Given the description of an element on the screen output the (x, y) to click on. 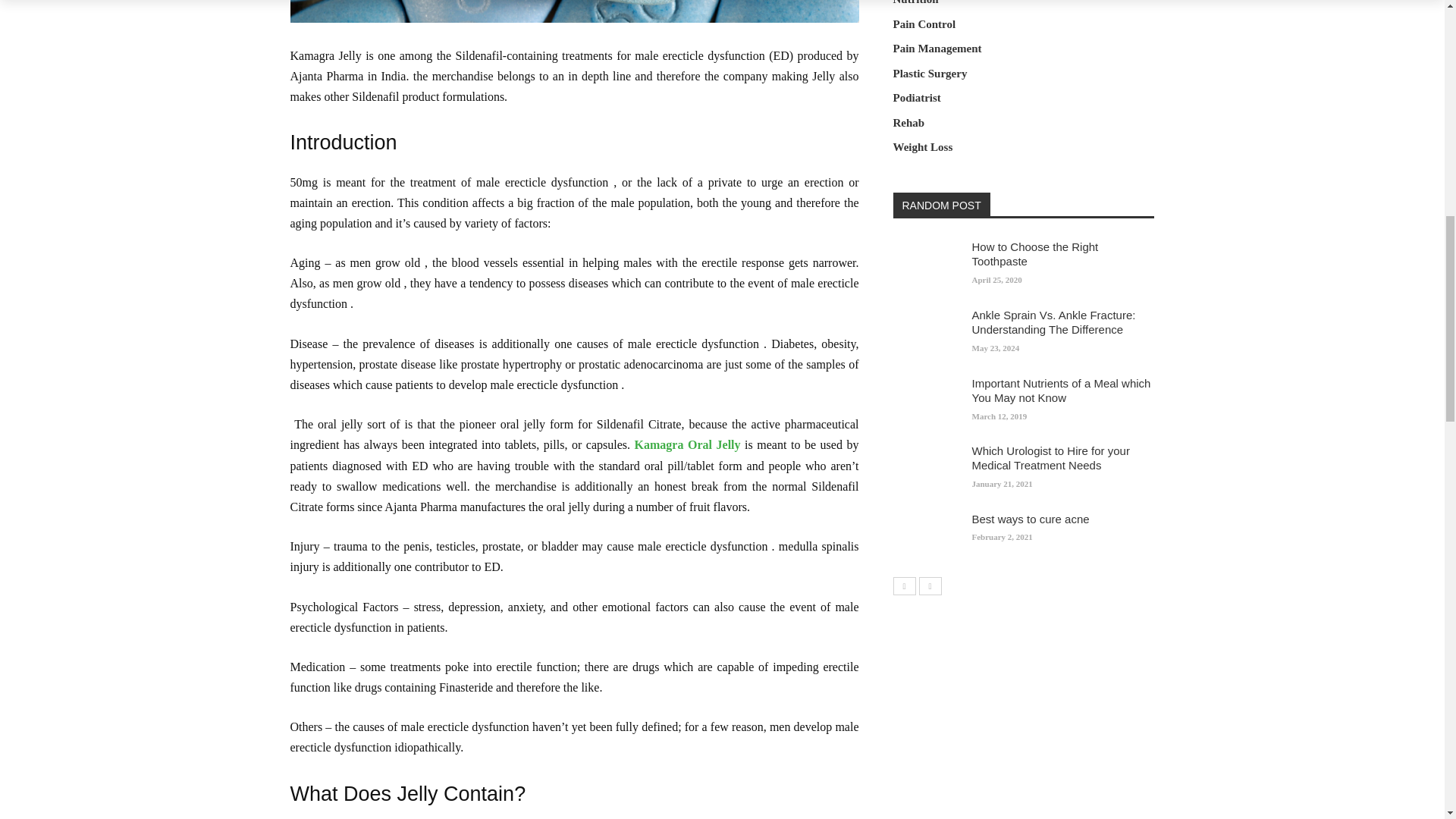
Next (930, 585)
Previous (904, 585)
